Given the description of an element on the screen output the (x, y) to click on. 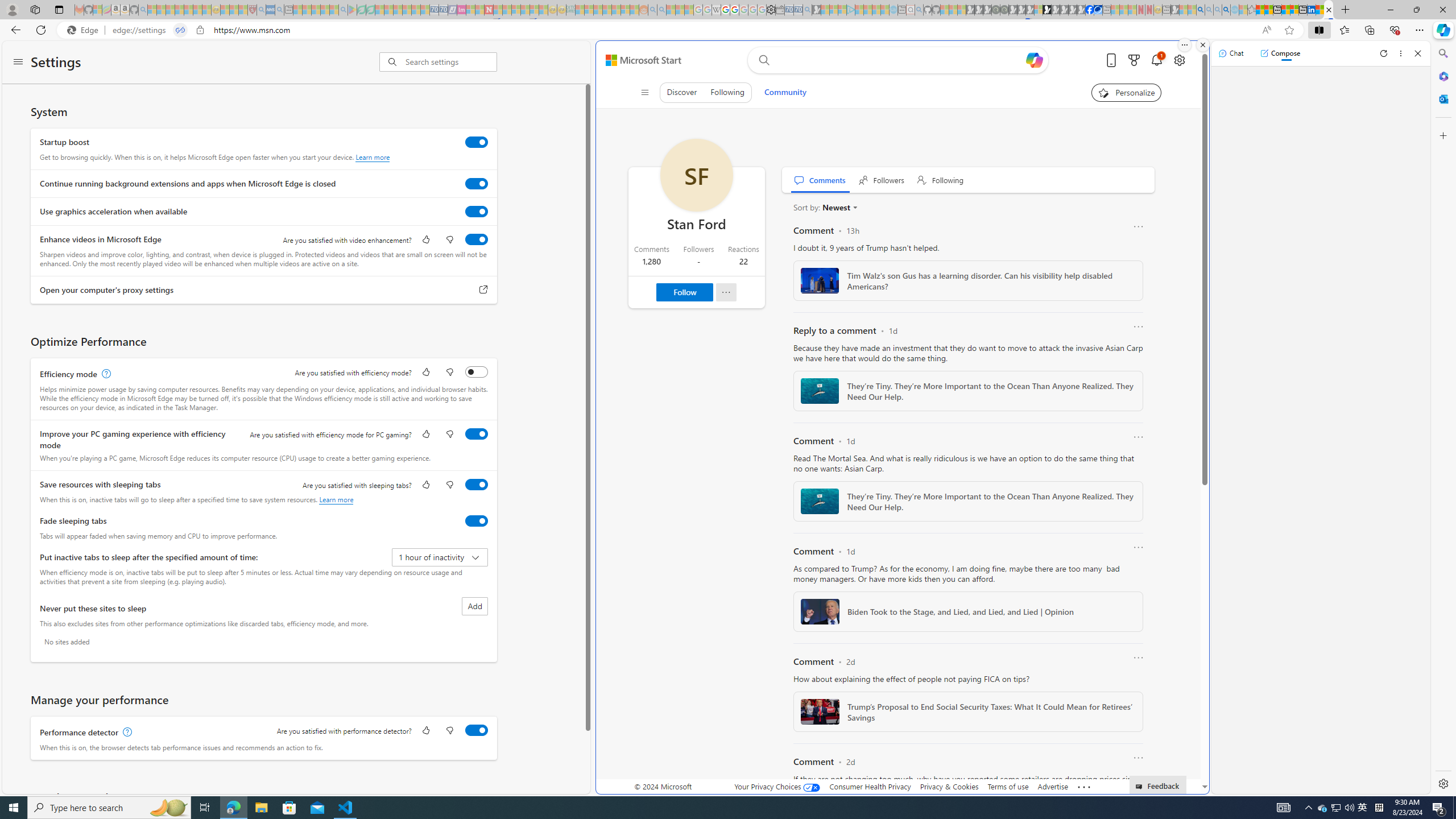
Report profile (726, 292)
Future Focus Report 2024 - Sleeping (1004, 9)
Community (785, 92)
Use graphics acceleration when available (476, 211)
